Given the description of an element on the screen output the (x, y) to click on. 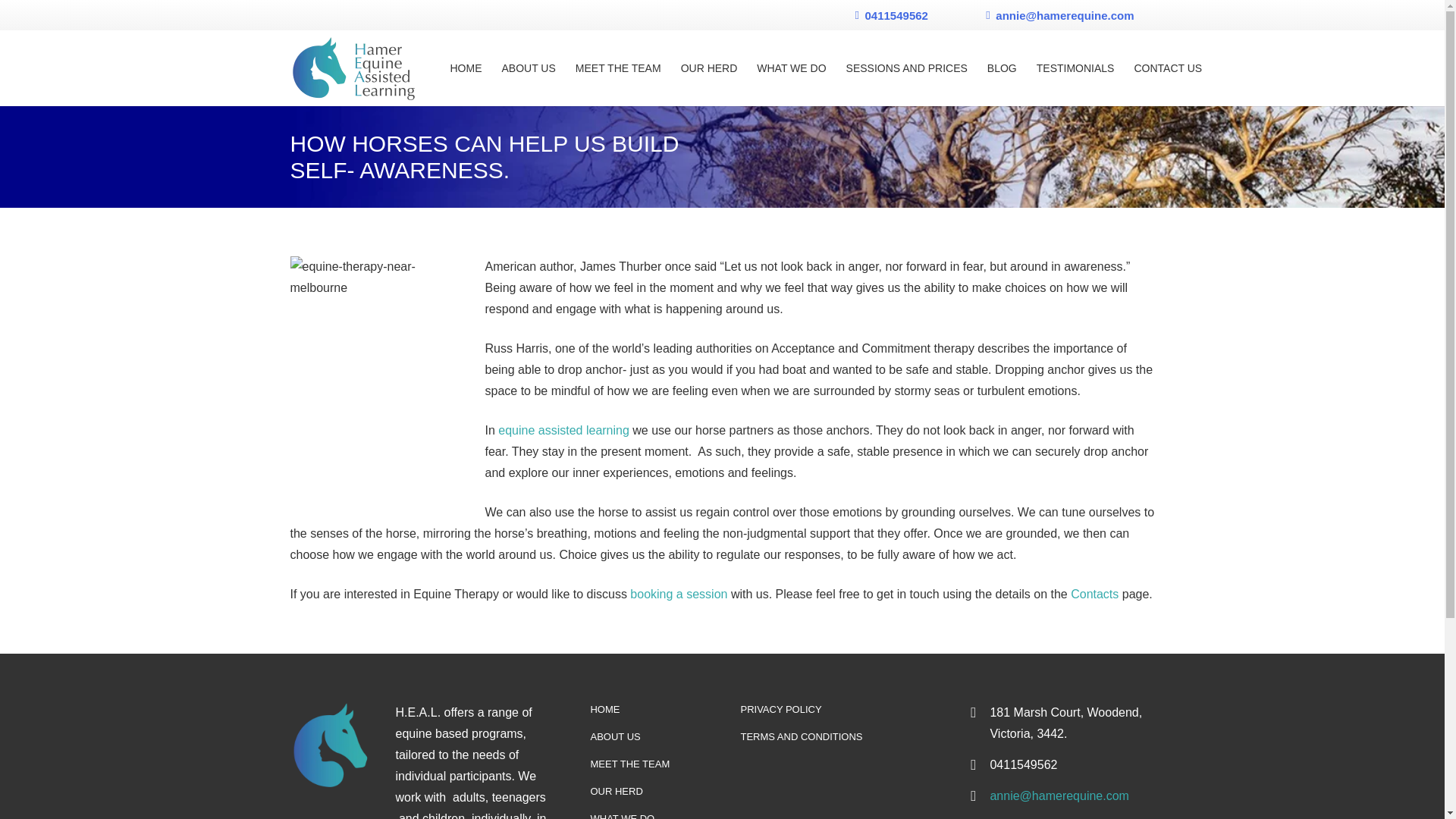
MEET THE TEAM (618, 68)
SESSIONS AND PRICES (905, 68)
WHAT WE DO (621, 816)
PRIVACY POLICY (780, 708)
ABOUT US (528, 68)
equine assisted learning (562, 430)
OUR HERD (615, 790)
TERMS AND CONDITIONS (800, 736)
OUR HERD (709, 68)
CONTACT US (1167, 68)
TESTIMONIALS (1075, 68)
booking a session (678, 594)
0411549562 (891, 14)
HOME (604, 708)
MEET THE TEAM (629, 763)
